Given the description of an element on the screen output the (x, y) to click on. 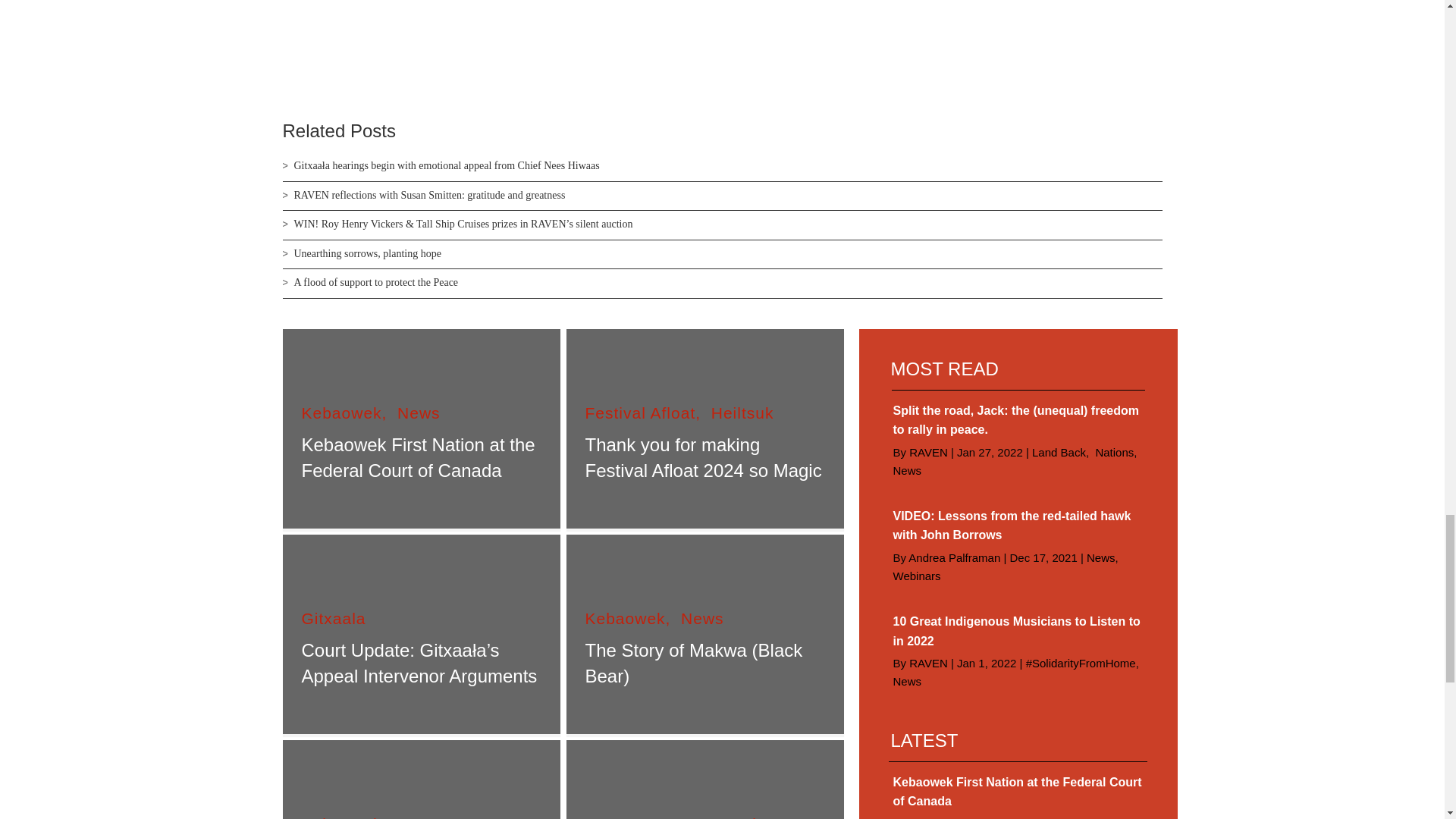
Kebaowek First Nation at the Federal Court of Canada (418, 457)
Unearthing sorrows, planting hope (367, 253)
A flood of support to protect the Peace (376, 282)
Thank you for making Festival Afloat 2024 so Magic (703, 457)
